Given the description of an element on the screen output the (x, y) to click on. 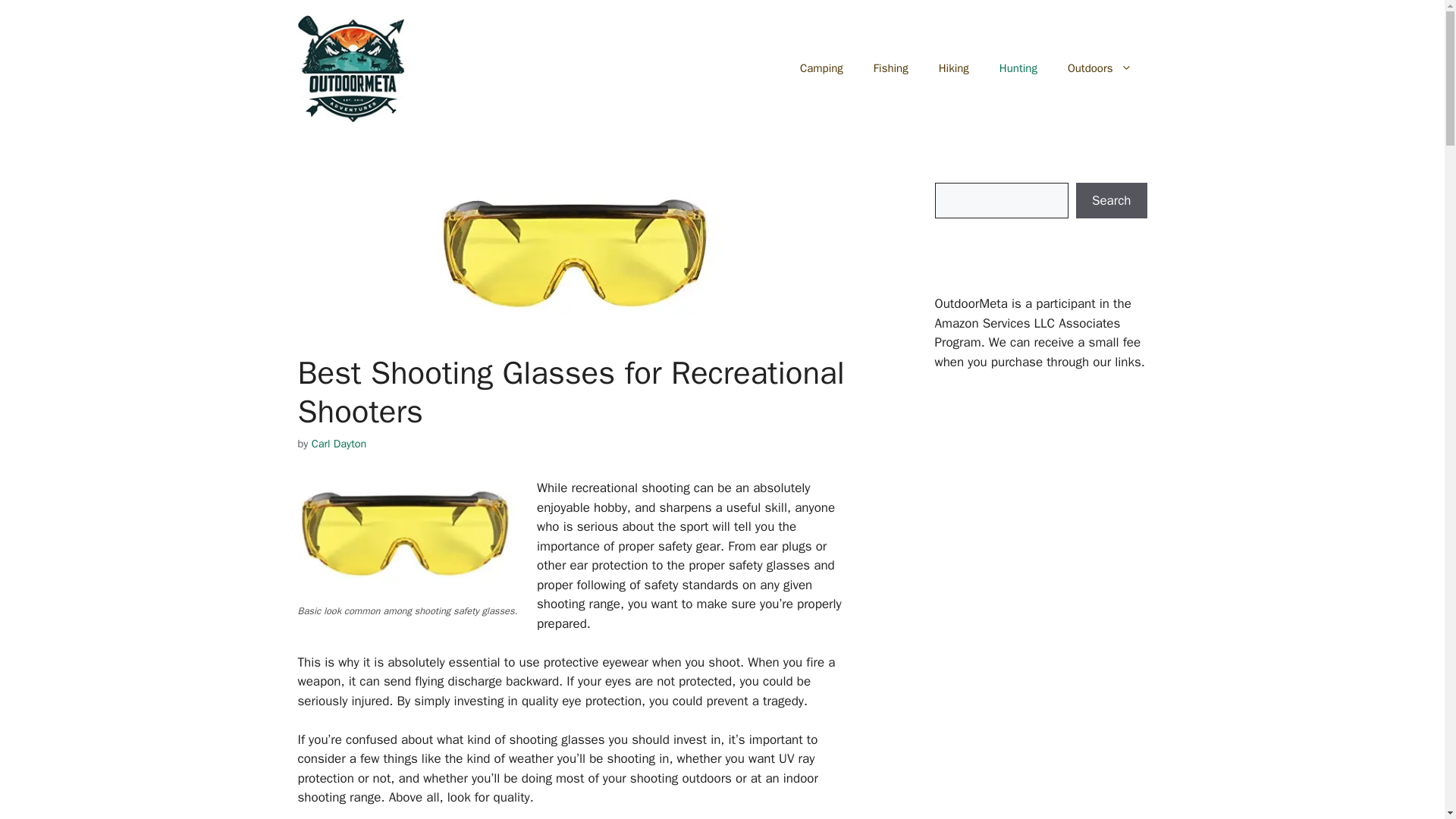
Carl Dayton (338, 443)
Search (1111, 200)
View all posts by Carl Dayton (338, 443)
Hunting (1018, 67)
Outdoors (1099, 67)
Hiking (953, 67)
Fishing (891, 67)
Camping (821, 67)
